Given the description of an element on the screen output the (x, y) to click on. 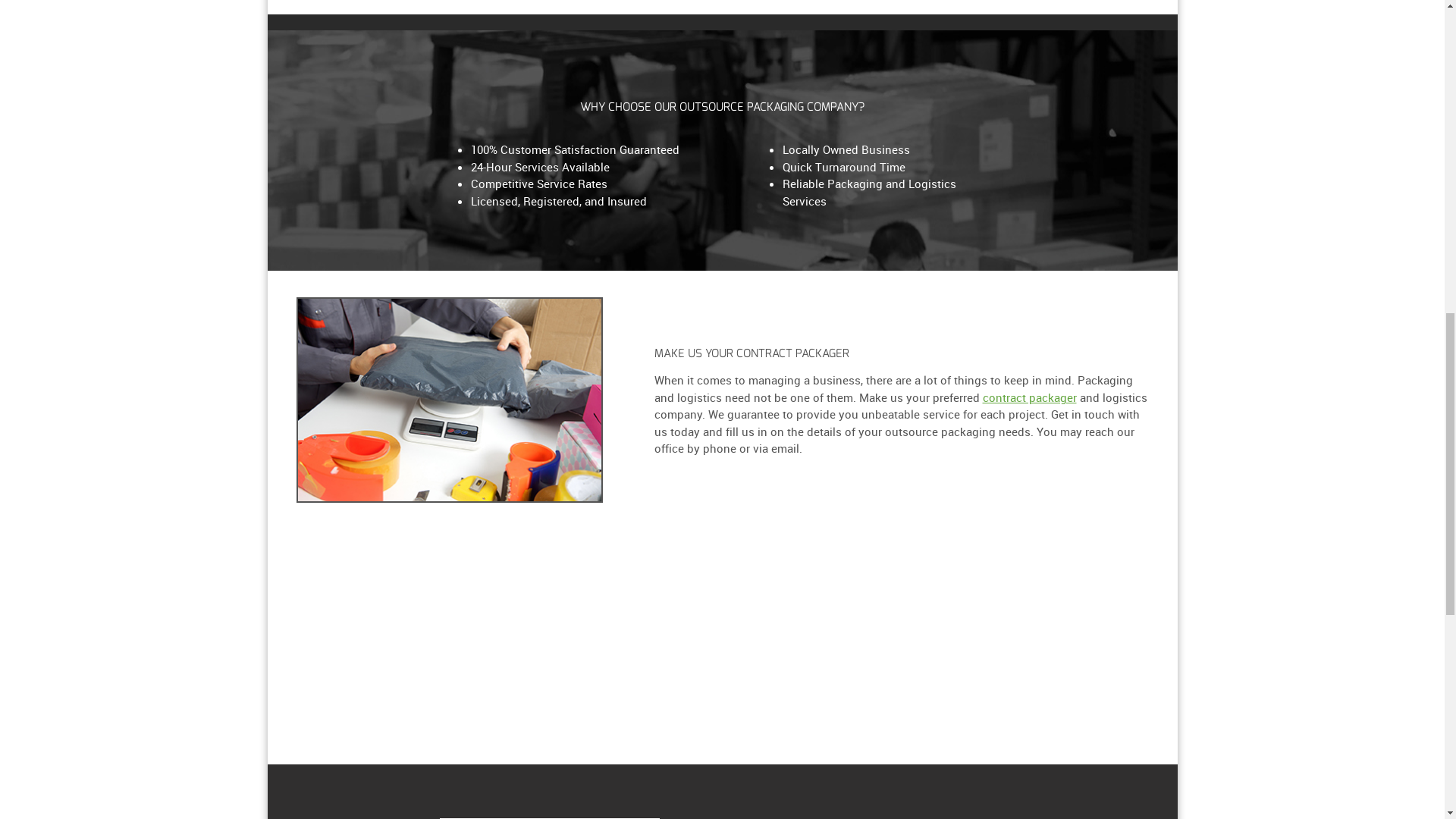
Weighing The Parcel (448, 399)
contract packager (1029, 396)
